Given the description of an element on the screen output the (x, y) to click on. 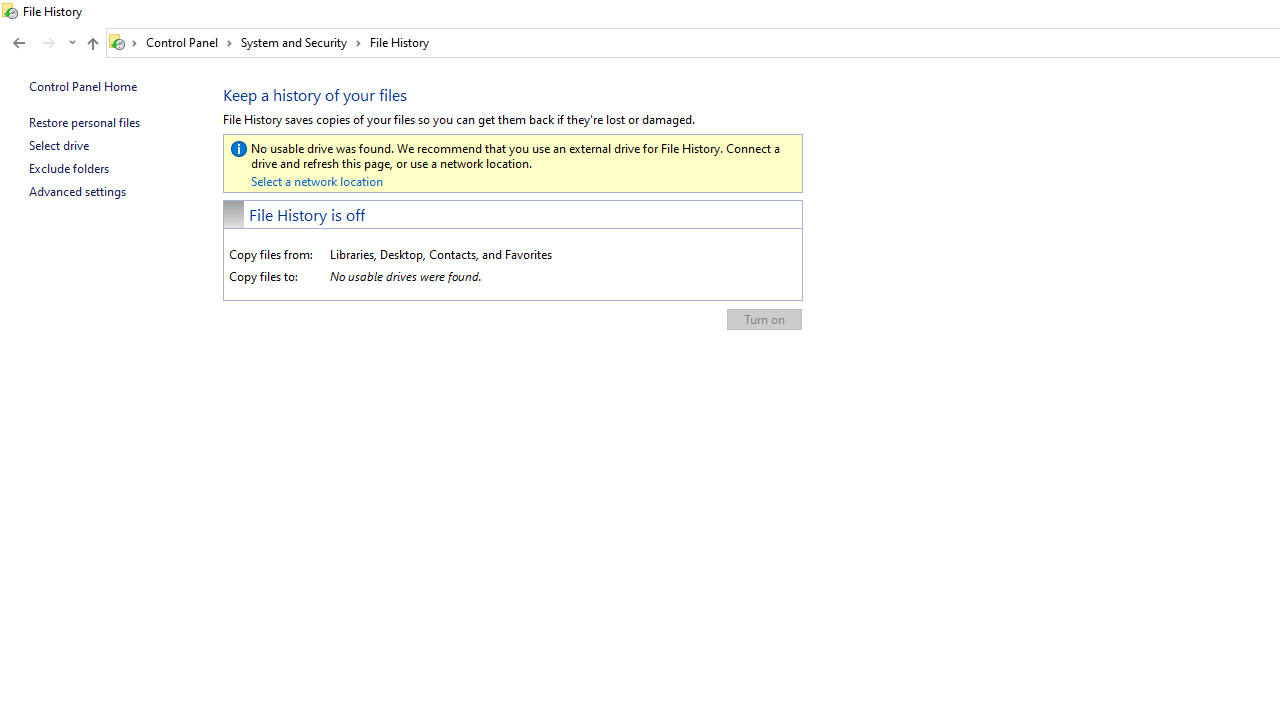
Advanced settings (77, 191)
Turn on (763, 319)
Up band toolbar (92, 46)
Exclude folders (68, 168)
Select drive (58, 145)
Restore personal files (84, 122)
Select a network location (316, 181)
All locations (124, 42)
System (10, 11)
Up to "System and Security" (Alt + Up Arrow) (92, 43)
Navigation buttons (41, 43)
Control Panel (189, 42)
Back to System and Security (Alt + Left Arrow) (18, 43)
File History (399, 42)
Control Panel Home (82, 86)
